Given the description of an element on the screen output the (x, y) to click on. 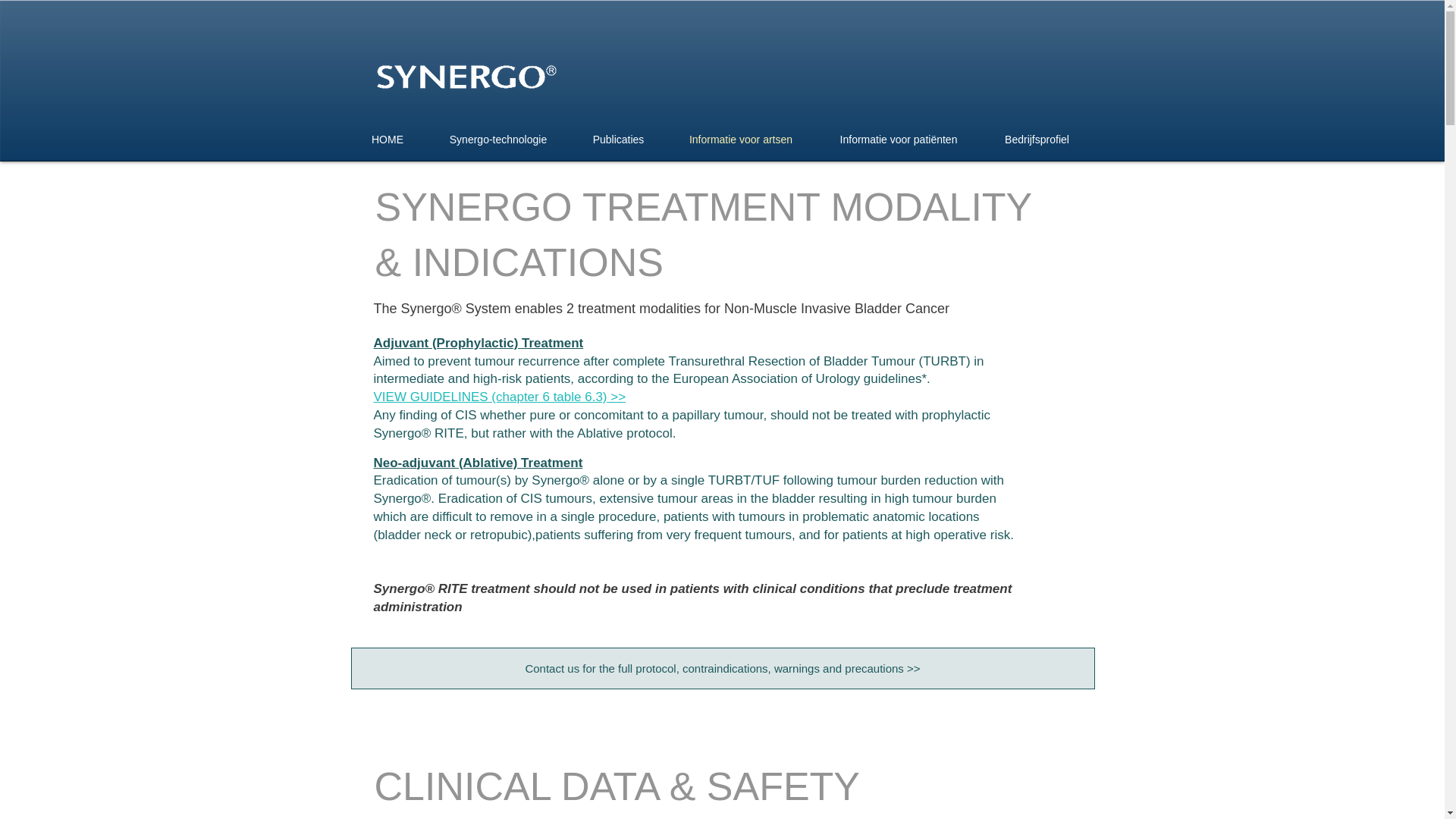
Bedrijfsprofiel (1036, 139)
Informatie voor artsen (740, 139)
HOME (387, 139)
Publicaties (617, 139)
microwave-induced thermochemotherapy (466, 76)
Synergo-technologie (498, 139)
